Given the description of an element on the screen output the (x, y) to click on. 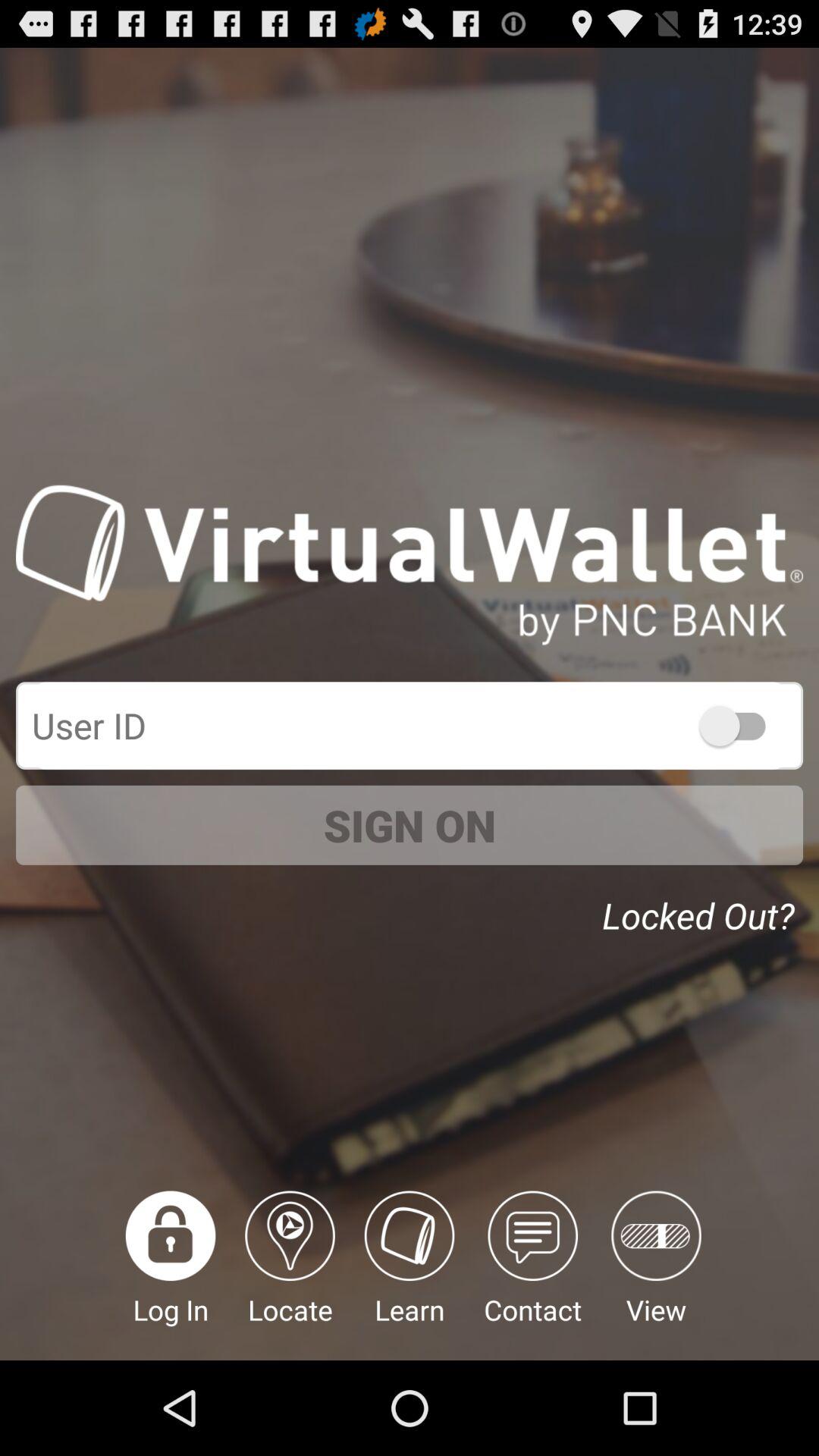
open icon to the right of log in item (289, 1275)
